Given the description of an element on the screen output the (x, y) to click on. 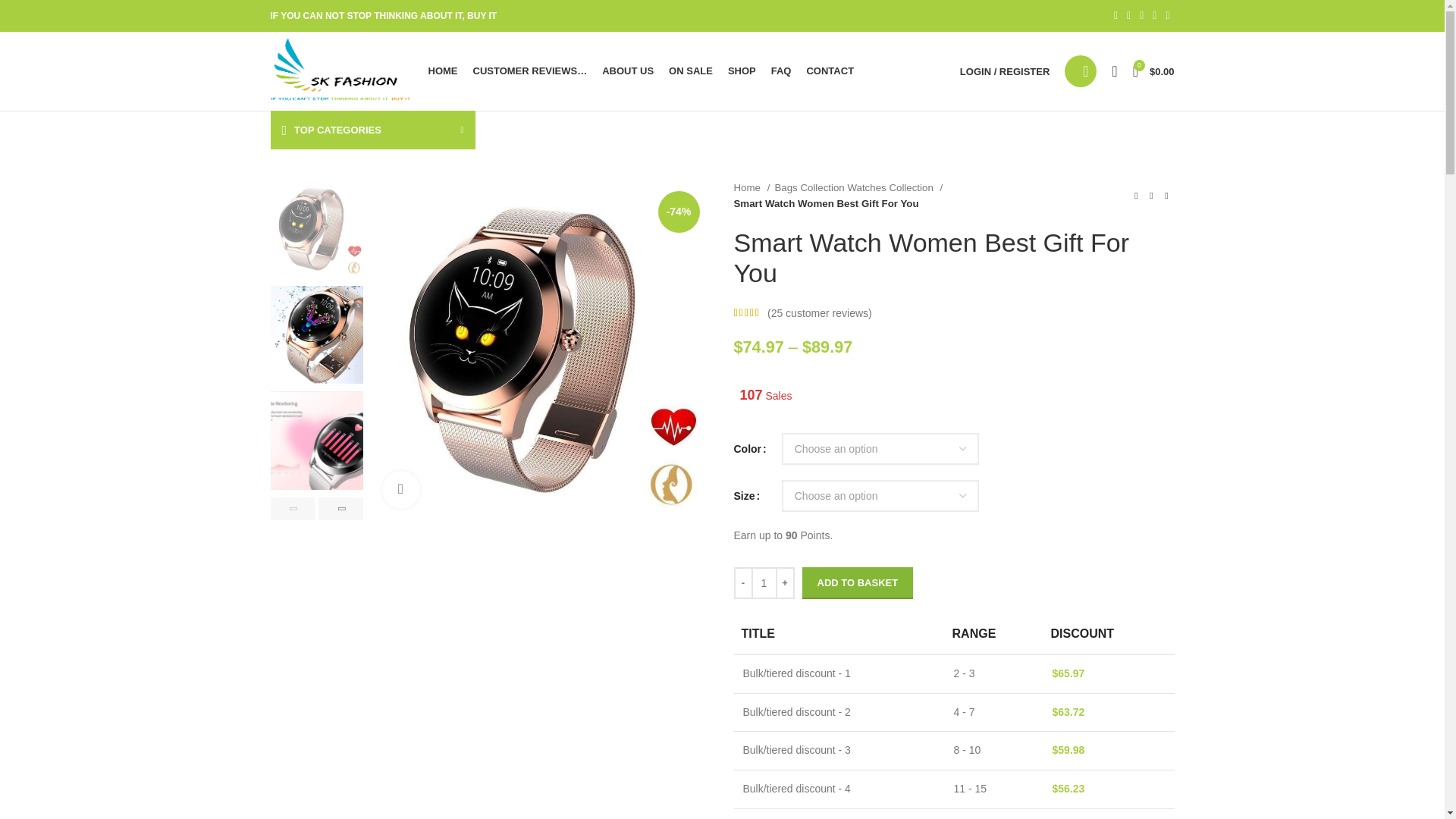
Search (1080, 71)
My Wishlist (1113, 71)
- (742, 582)
Log in (924, 312)
CONTACT (829, 71)
FAQ (781, 71)
HOME (442, 71)
images (889, 326)
images (539, 349)
1 (763, 582)
images (1235, 298)
My account (1004, 71)
ABOUT US (627, 71)
ON SALE (690, 71)
SHOP (741, 71)
